Given the description of an element on the screen output the (x, y) to click on. 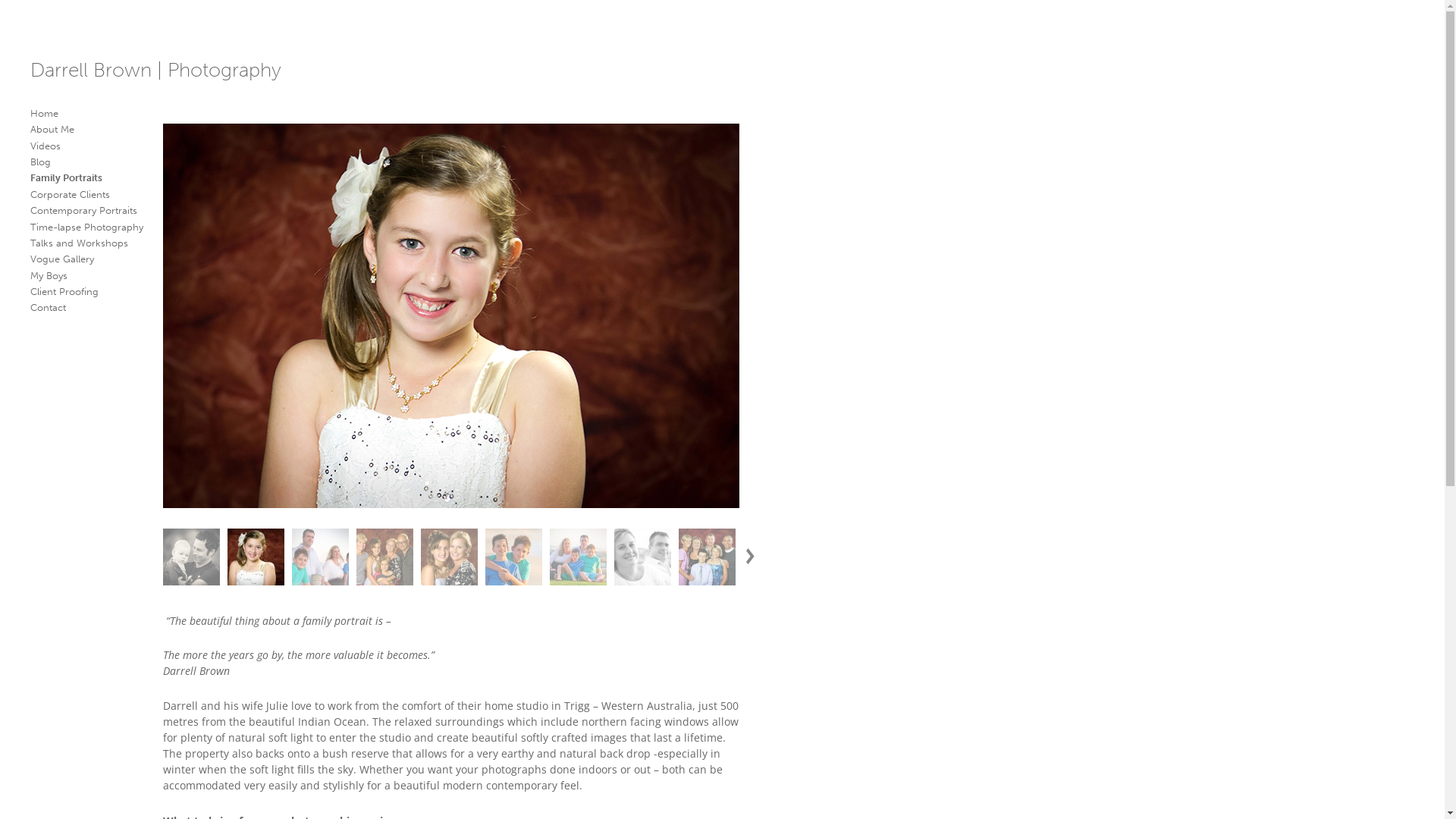
right Element type: text (752, 555)
Client Proofing Element type: text (64, 291)
Time-lapse Photography Element type: text (86, 226)
Blog Element type: text (40, 161)
Vogue Gallery Element type: text (62, 258)
Family Portraits Element type: text (66, 177)
Contemporary Portraits Element type: text (83, 210)
About Me Element type: text (52, 128)
Videos Element type: text (45, 145)
Contact Element type: text (47, 307)
Home Element type: text (44, 113)
Darrell Brown | Photography Element type: text (155, 70)
My Boys Element type: text (48, 275)
Talks and Workshops Element type: text (79, 242)
Corporate Clients Element type: text (69, 194)
